Given the description of an element on the screen output the (x, y) to click on. 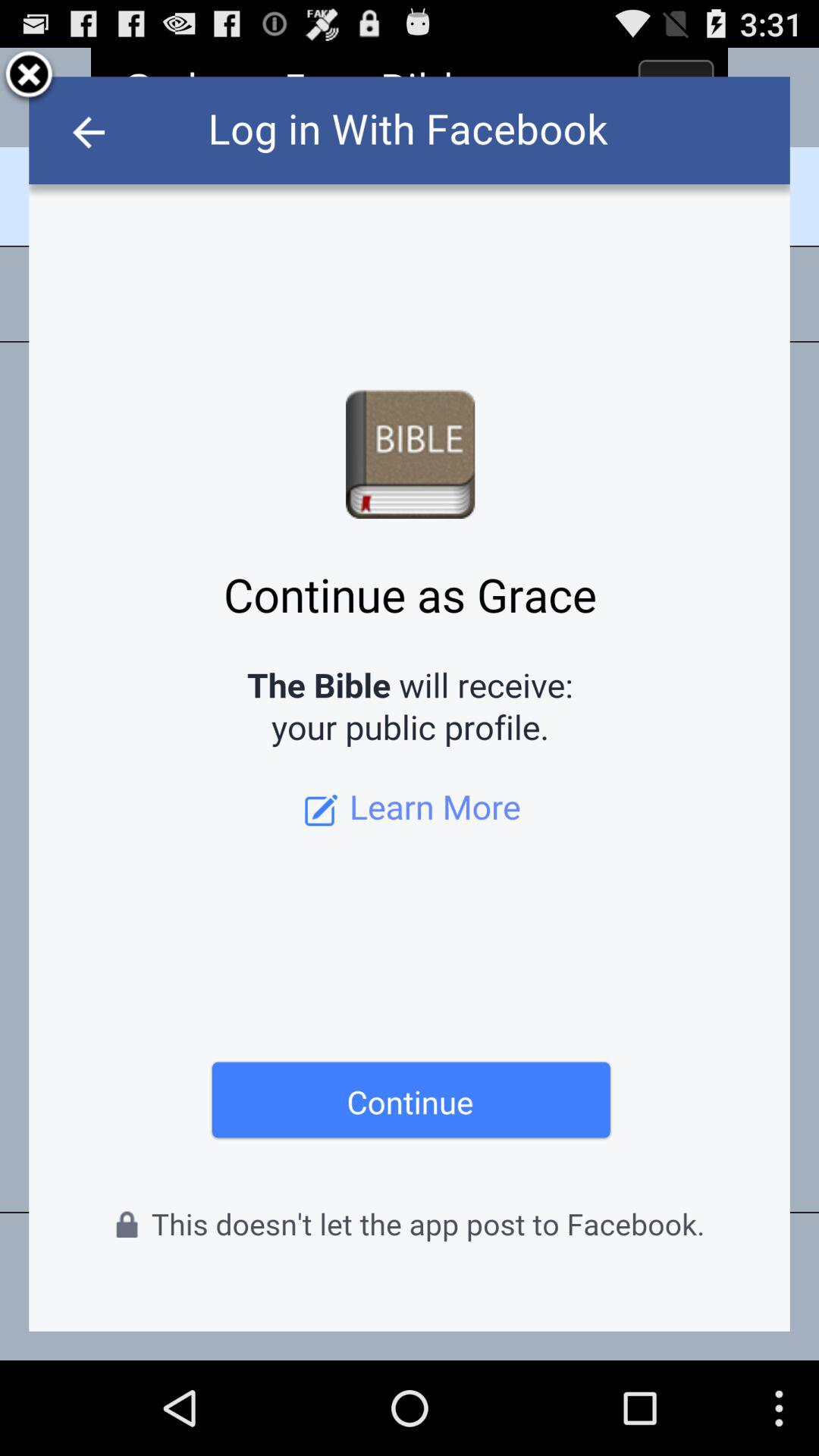
close the app (29, 76)
